Given the description of an element on the screen output the (x, y) to click on. 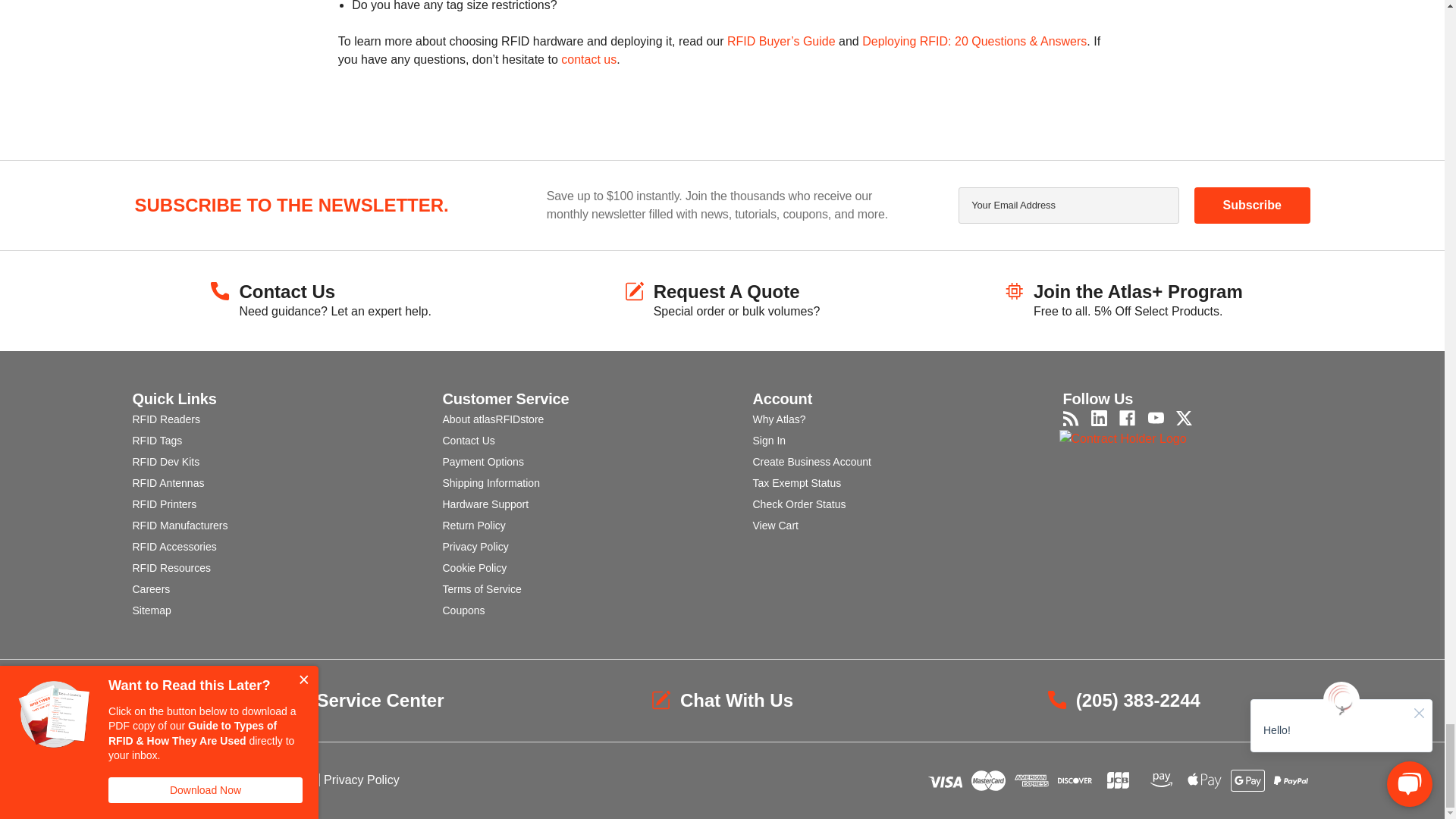
Subscribe (1250, 205)
Linkedin (1098, 417)
Facebook (1127, 417)
Twitter (1184, 417)
Rss (1070, 417)
Youtube (1155, 417)
